Given the description of an element on the screen output the (x, y) to click on. 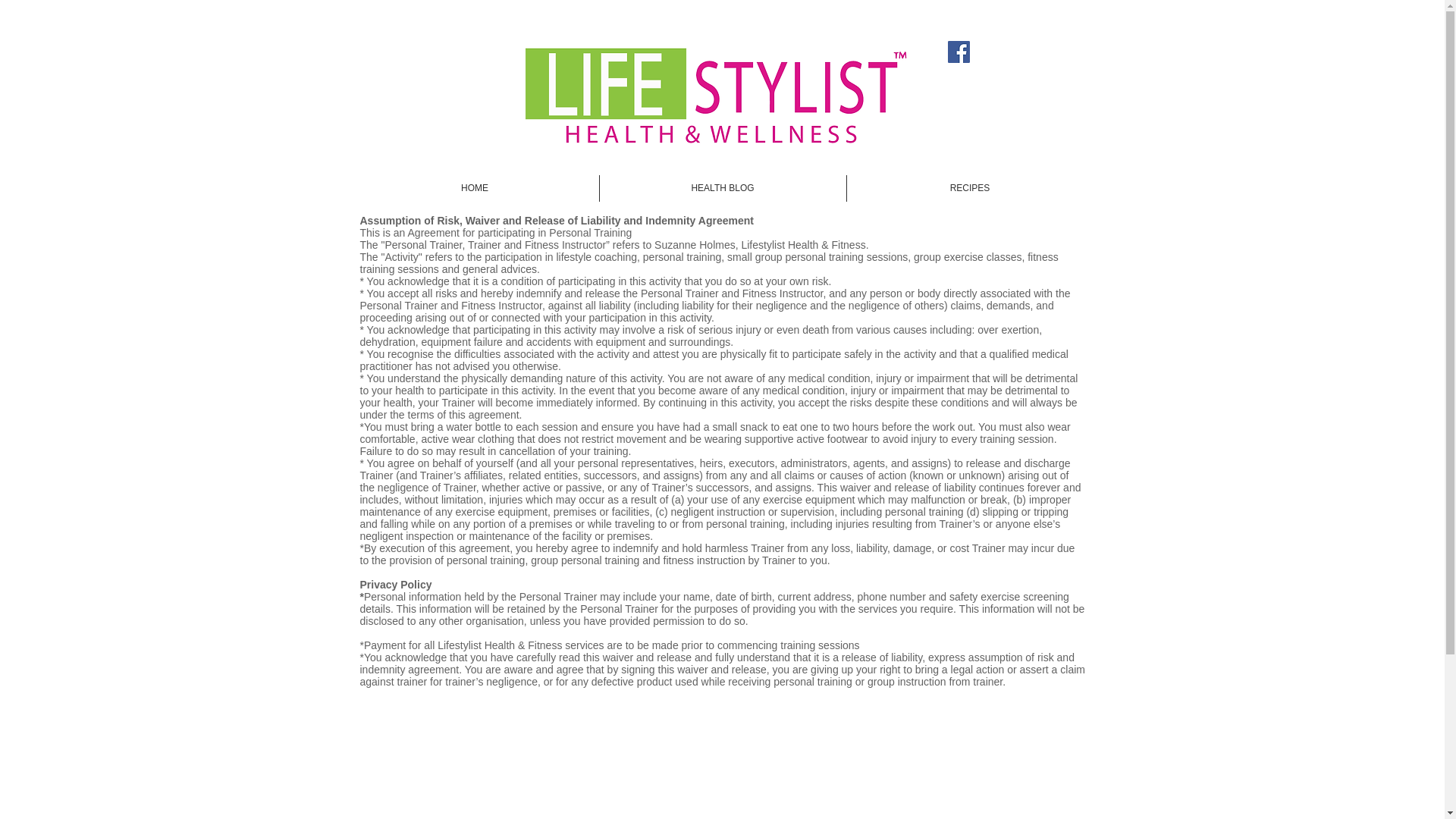
RECIPES (969, 188)
HOME (474, 188)
HERE  (847, 816)
HEALTH BLOG (721, 188)
Embedded Content (642, 813)
